Given the description of an element on the screen output the (x, y) to click on. 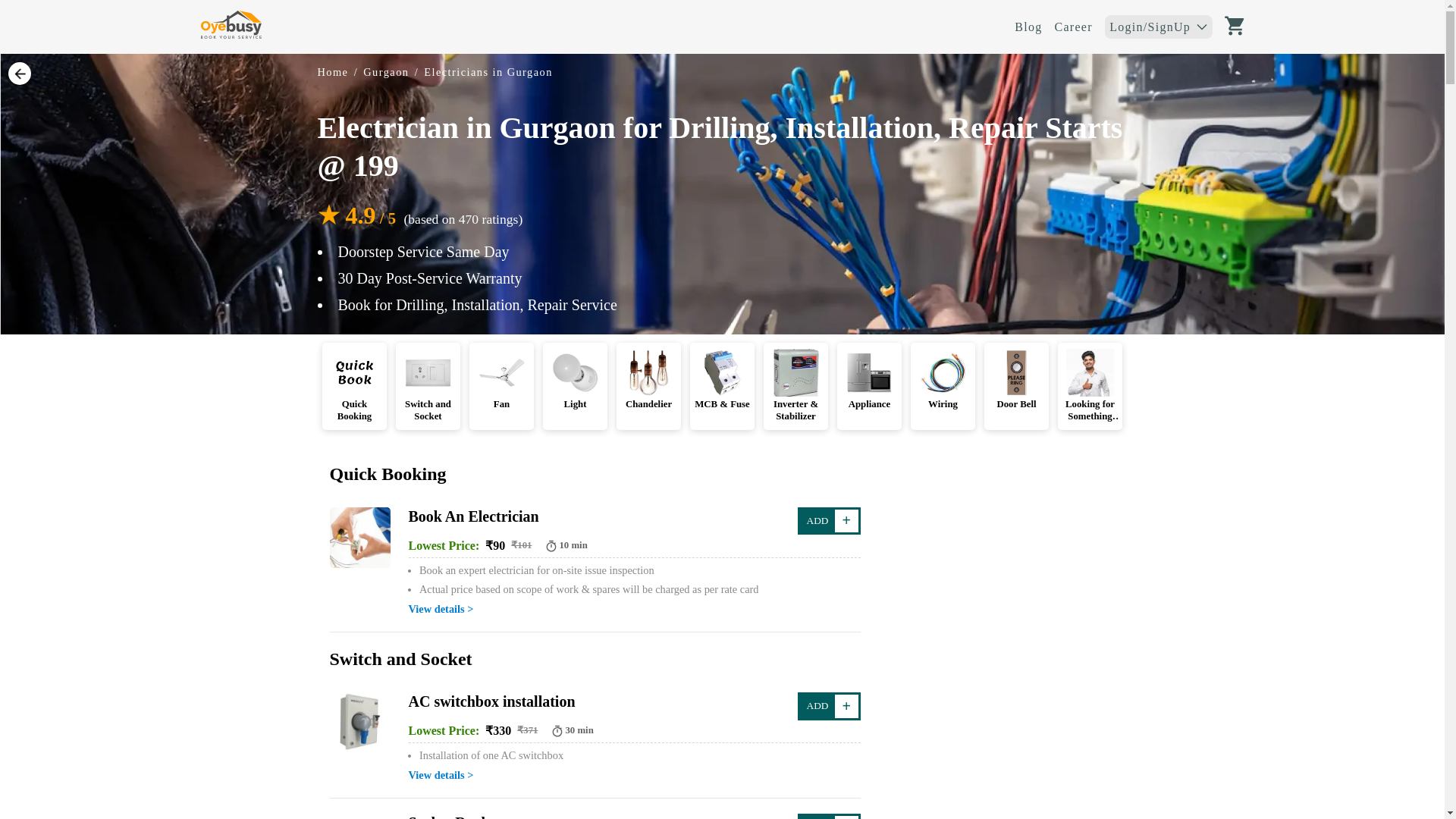
Home (332, 71)
Career (1073, 27)
Gurgaon (385, 71)
Blog (1028, 27)
